Given the description of an element on the screen output the (x, y) to click on. 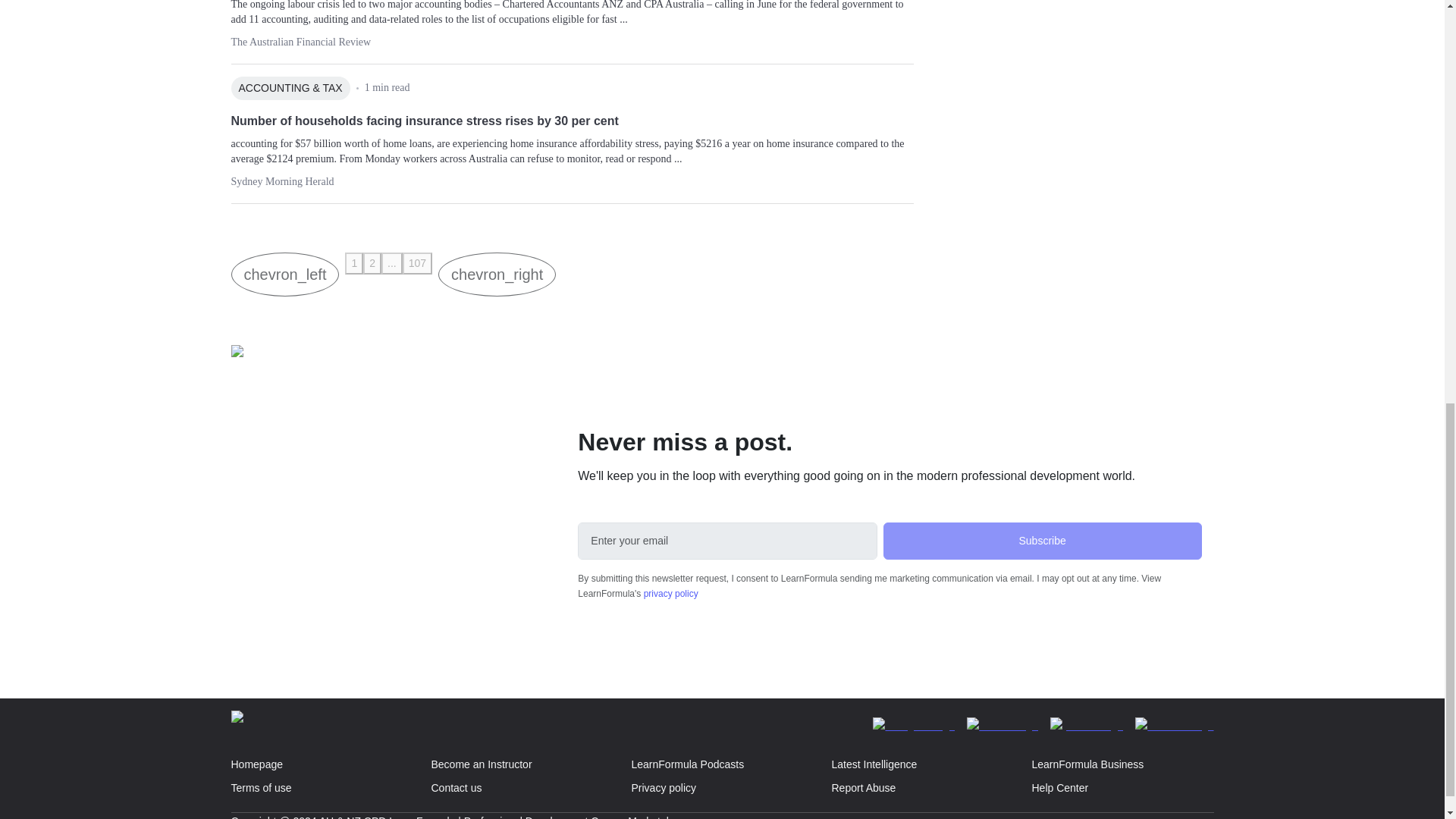
Become an Instructor (521, 764)
privacy policy (670, 593)
107 (417, 263)
LearnFormula Podcasts (721, 764)
Subscribe (1042, 540)
Homepage (321, 764)
... (392, 263)
